Given the description of an element on the screen output the (x, y) to click on. 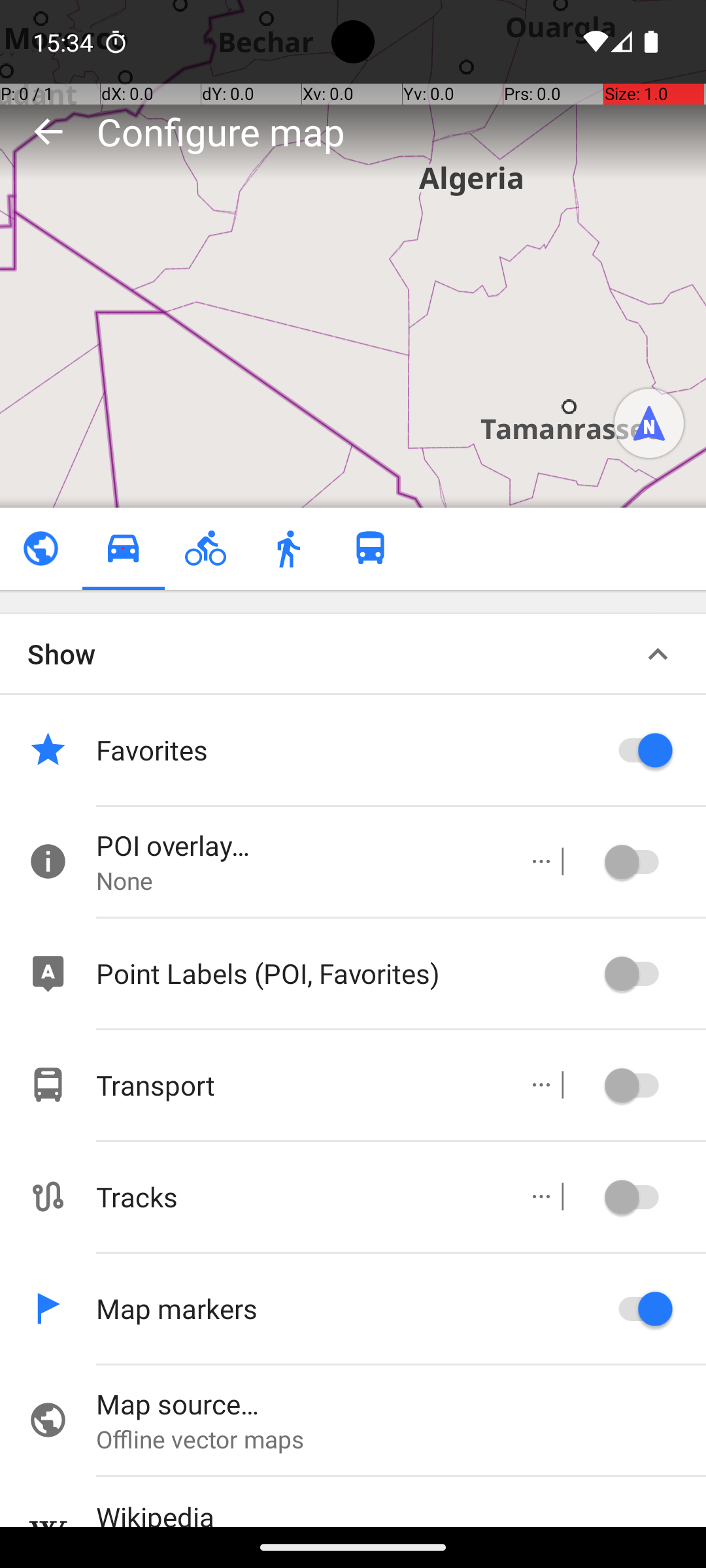
Movement direction Element type: android.widget.ImageButton (649, 423)
Browse map unchecked Element type: android.widget.ImageView (40, 548)
Driving checked Element type: android.widget.ImageView (122, 548)
